Given the description of an element on the screen output the (x, y) to click on. 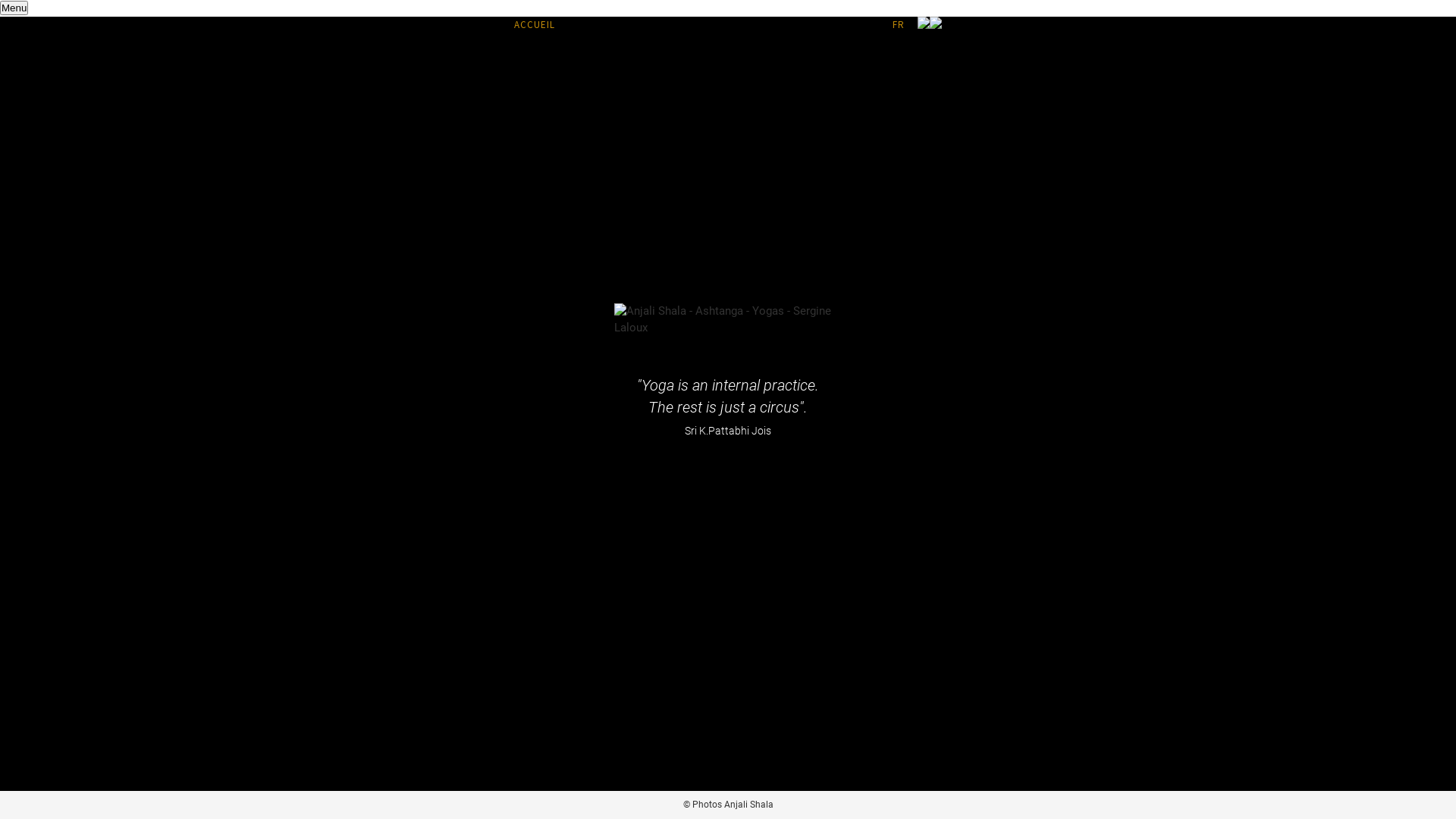
Menu Element type: text (14, 7)
BIO Element type: text (834, 24)
EN Element type: text (910, 24)
ASHTANGA Element type: text (579, 24)
FR Element type: text (898, 24)
ACCUEIL Element type: text (534, 24)
HORAIRE Element type: text (658, 24)
| Element type: text (890, 24)
CONTACT Element type: text (865, 24)
COURS Element type: text (620, 24)
